Given the description of an element on the screen output the (x, y) to click on. 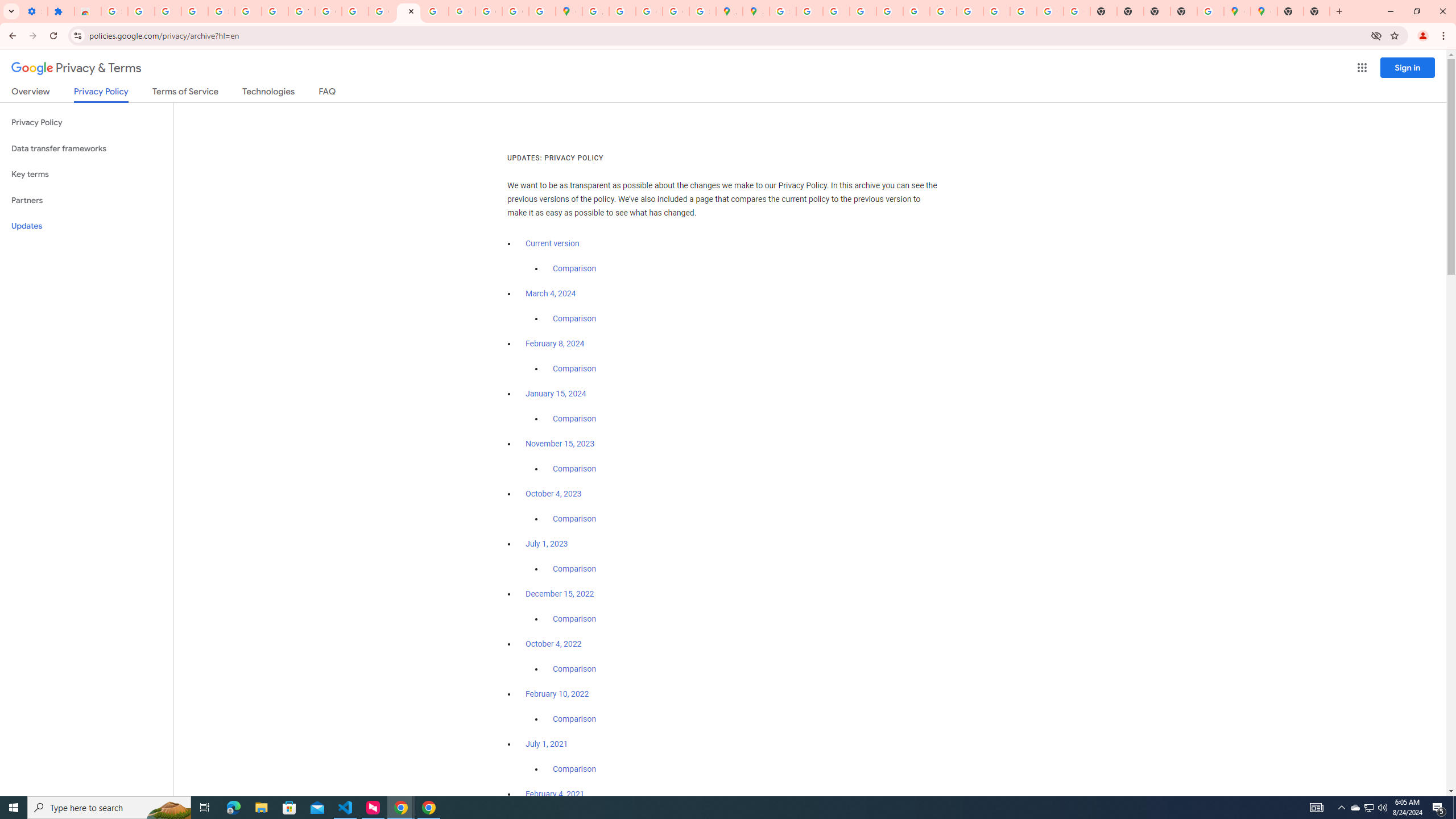
Sign in - Google Accounts (114, 11)
February 4, 2021 (555, 793)
